Given the description of an element on the screen output the (x, y) to click on. 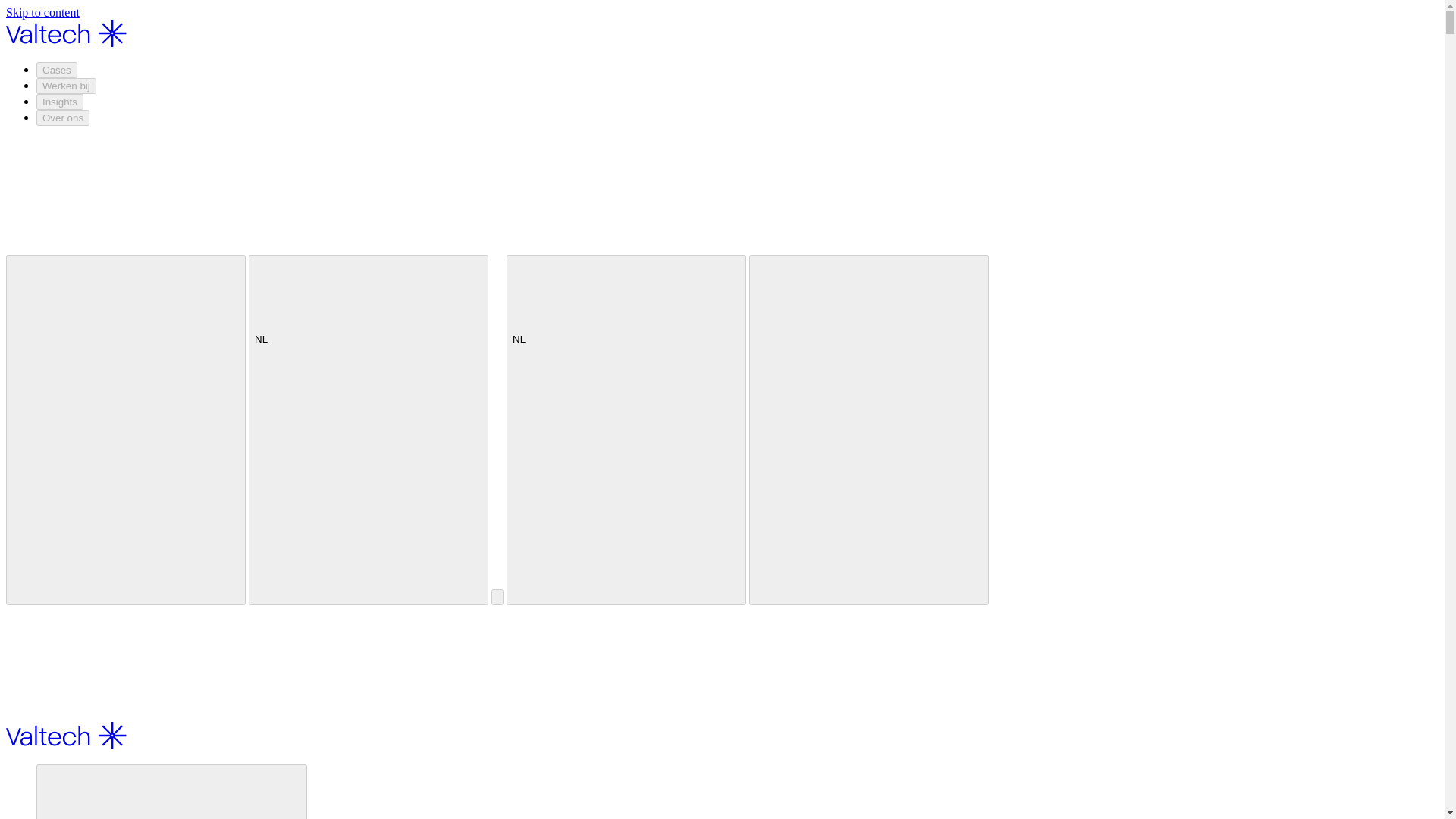
Cases (171, 791)
Skip to content (42, 11)
NL (625, 314)
Over ons (62, 117)
Werken bij (66, 85)
NL (367, 314)
Cases (56, 69)
